Given the description of an element on the screen output the (x, y) to click on. 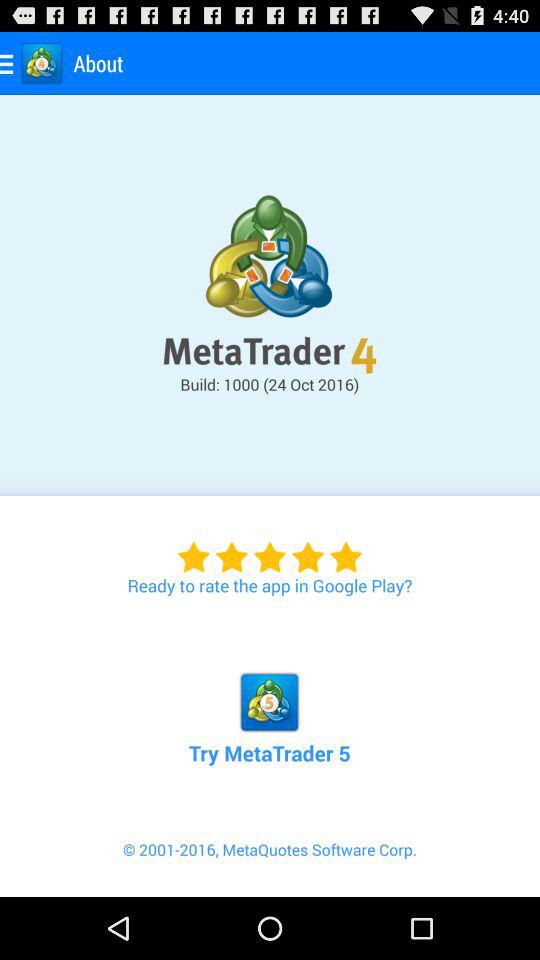
turn on 2001 2016 metaquotes (269, 867)
